Given the description of an element on the screen output the (x, y) to click on. 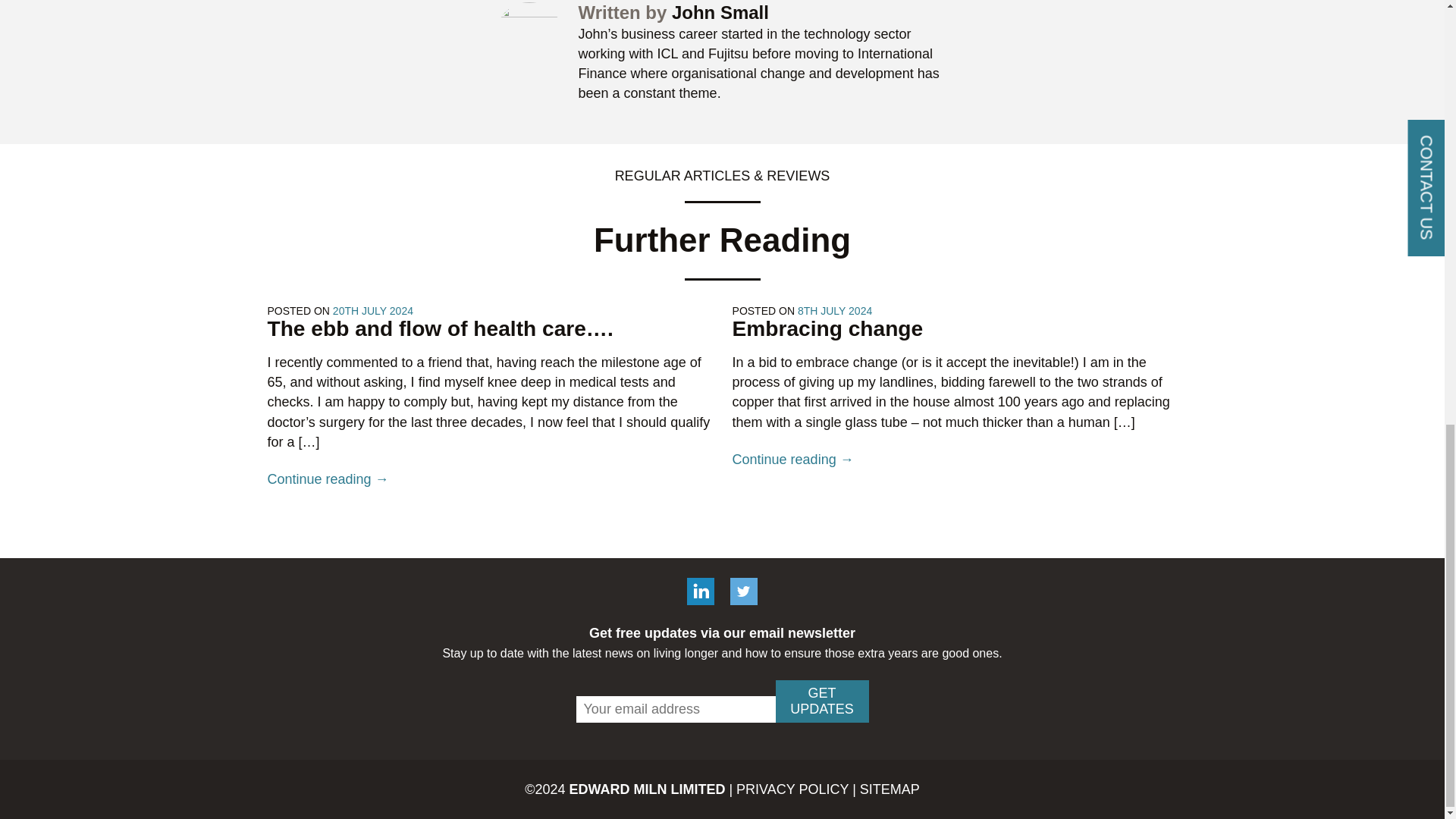
SITEMAP (890, 789)
Embracing change (827, 328)
GET UPDATES (820, 701)
20TH JULY 2024 (373, 310)
Permalink to Embracing change (827, 328)
3:45 pm (834, 310)
8TH JULY 2024 (834, 310)
PRIVACY POLICY (792, 789)
8:00 am (373, 310)
